Given the description of an element on the screen output the (x, y) to click on. 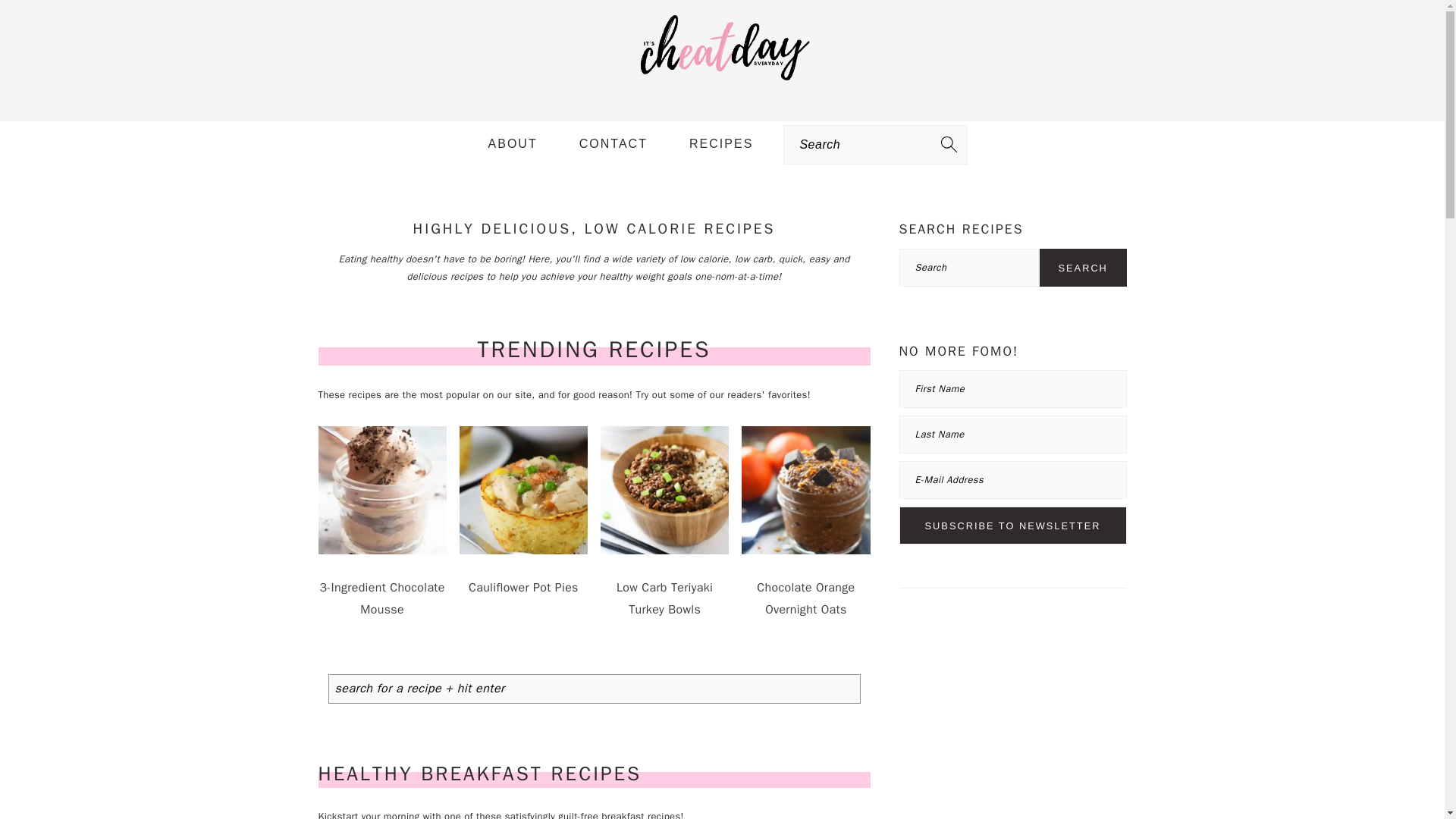
Cauliflower Pot Pies (524, 577)
Search (275, 19)
Search (1082, 267)
Chocolate Orange Overnight Oats (805, 588)
It's Cheat Day Everyday (722, 89)
ABOUT (512, 143)
SUBSCRIBE TO NEWSLETTER (1012, 525)
CONTACT (613, 143)
It's Cheat Day Everyday (722, 48)
RECIPES (720, 143)
Search (1082, 267)
3-Ingredient Chocolate Mousse (382, 588)
Low Carb Teriyaki Turkey Bowls (664, 588)
